Given the description of an element on the screen output the (x, y) to click on. 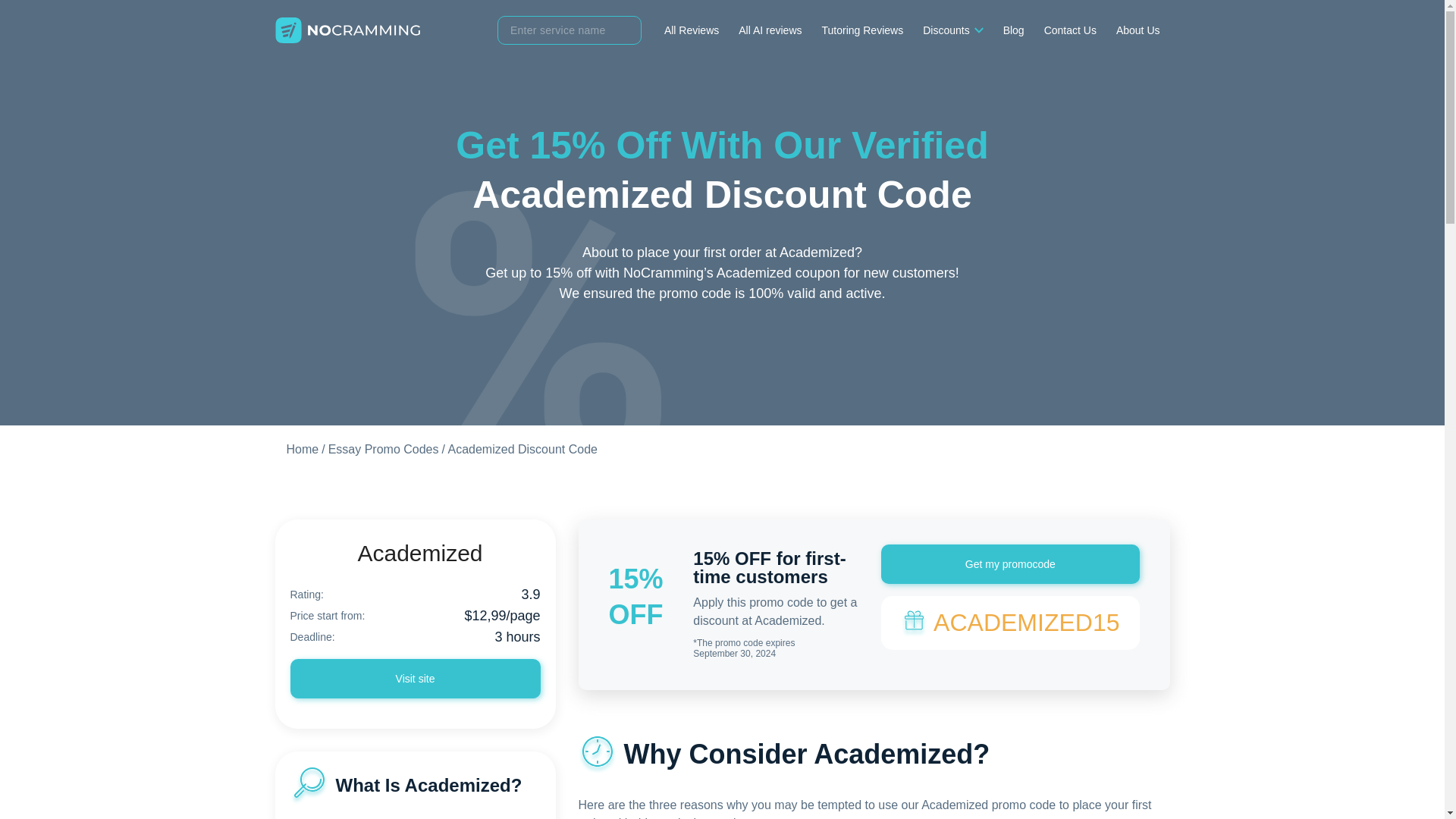
Tutoring Reviews (863, 30)
All Reviews (691, 30)
About Us (1138, 30)
Home (302, 449)
Contact Us (1069, 30)
Visit site (414, 678)
Get my promocode (1009, 563)
All AI reviews (769, 30)
Essay Promo Codes (384, 449)
